Given the description of an element on the screen output the (x, y) to click on. 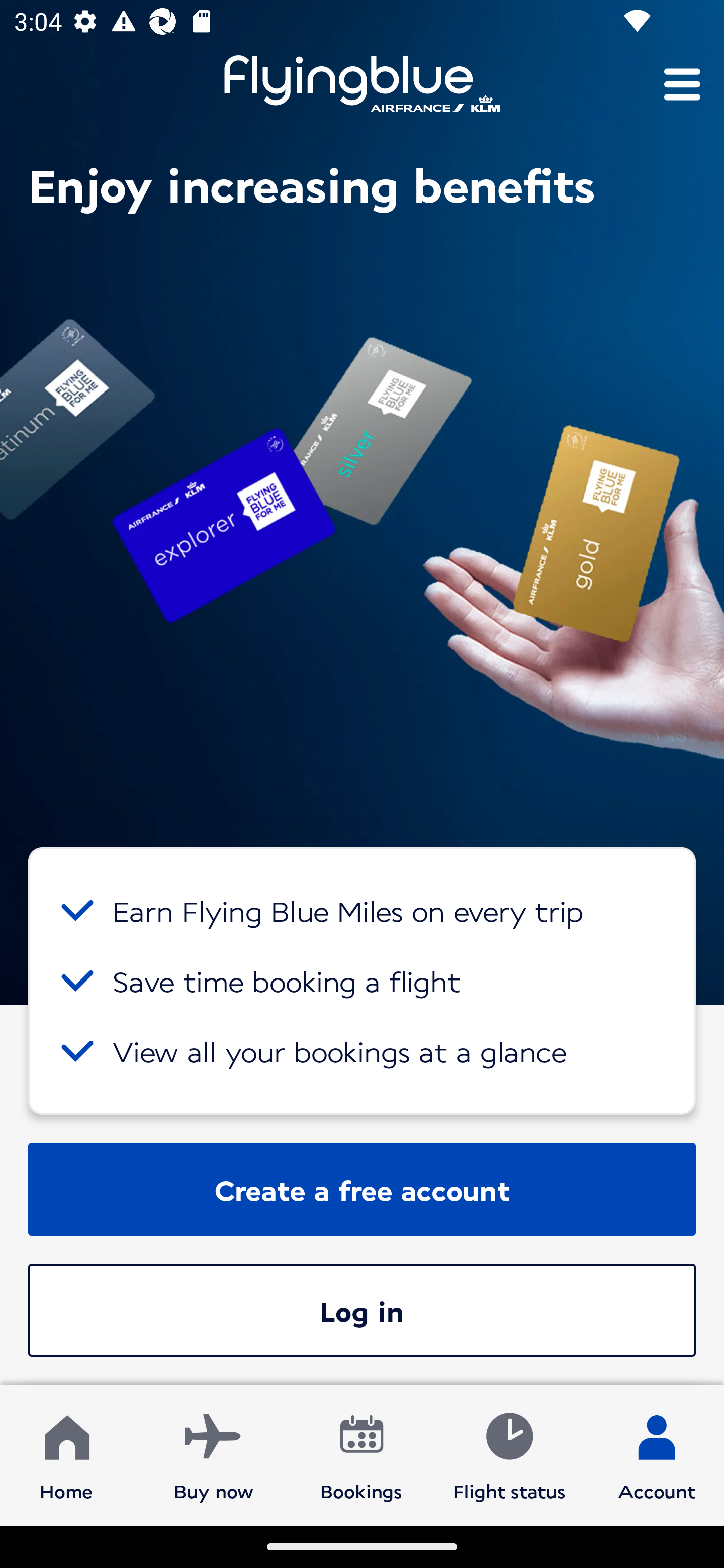
Create a free account (361, 1189)
Log in (361, 1309)
Home (66, 1454)
Buy now (213, 1454)
Bookings (361, 1454)
Flight status (509, 1454)
